Given the description of an element on the screen output the (x, y) to click on. 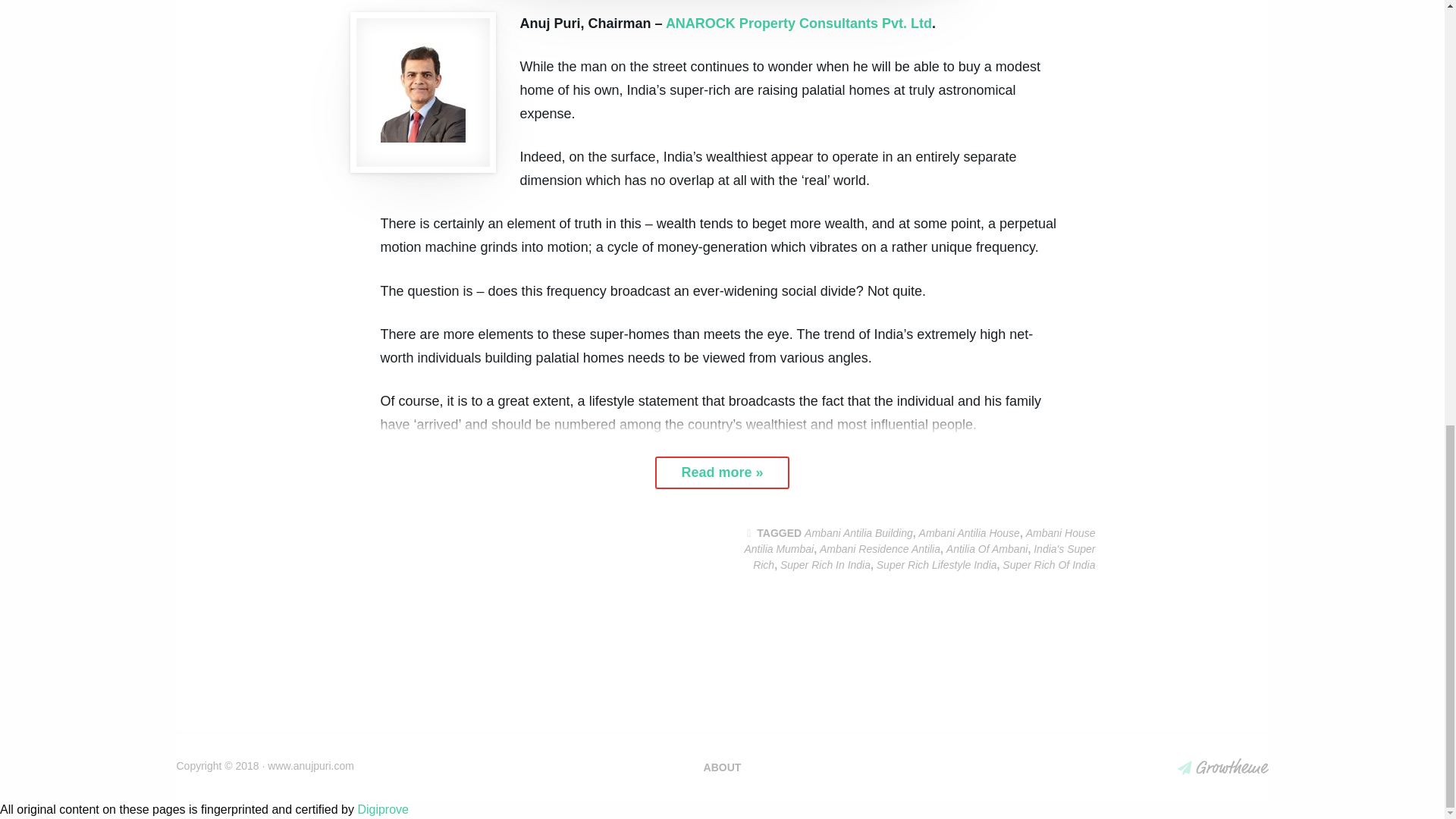
Digiprove (382, 809)
India'S Super Rich (923, 556)
Ambani Antilia House (969, 532)
ANAROCK Property Consultants Pvt. Ltd (798, 23)
Super Rich Of India (1048, 564)
Super Rich Lifestyle India (936, 564)
Super Rich In India (825, 564)
Ambani House Antilia Mumbai (919, 541)
Ambani Residence Antilia (879, 548)
Antilia Of Ambani (986, 548)
GROWTHEME (1222, 766)
ABOUT (722, 767)
Ambani Antilia Building (858, 532)
